Given the description of an element on the screen output the (x, y) to click on. 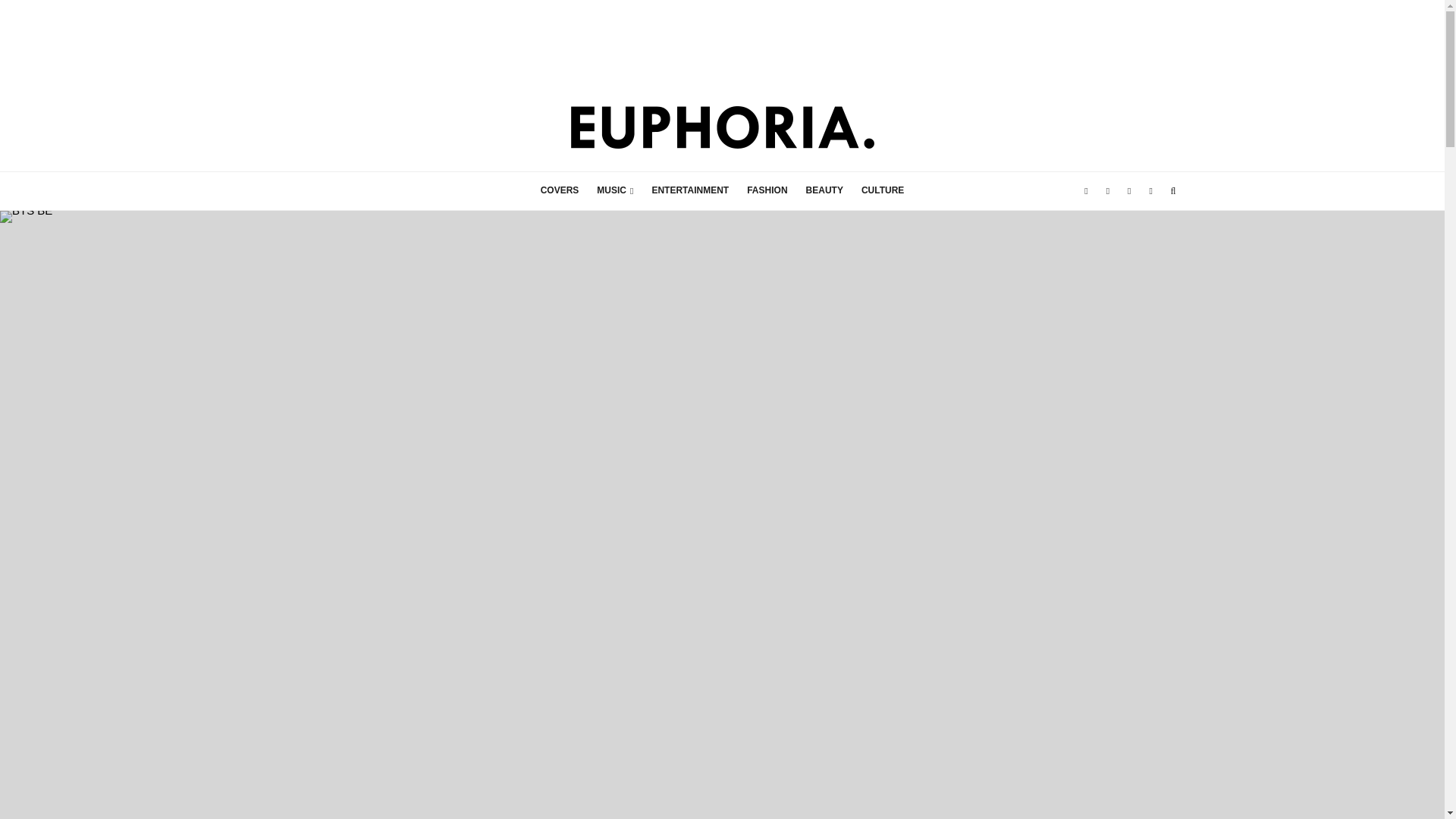
FASHION (767, 190)
CULTURE (881, 190)
ENTERTAINMENT (690, 190)
MUSIC (615, 190)
BEAUTY (823, 190)
COVERS (559, 190)
